Given the description of an element on the screen output the (x, y) to click on. 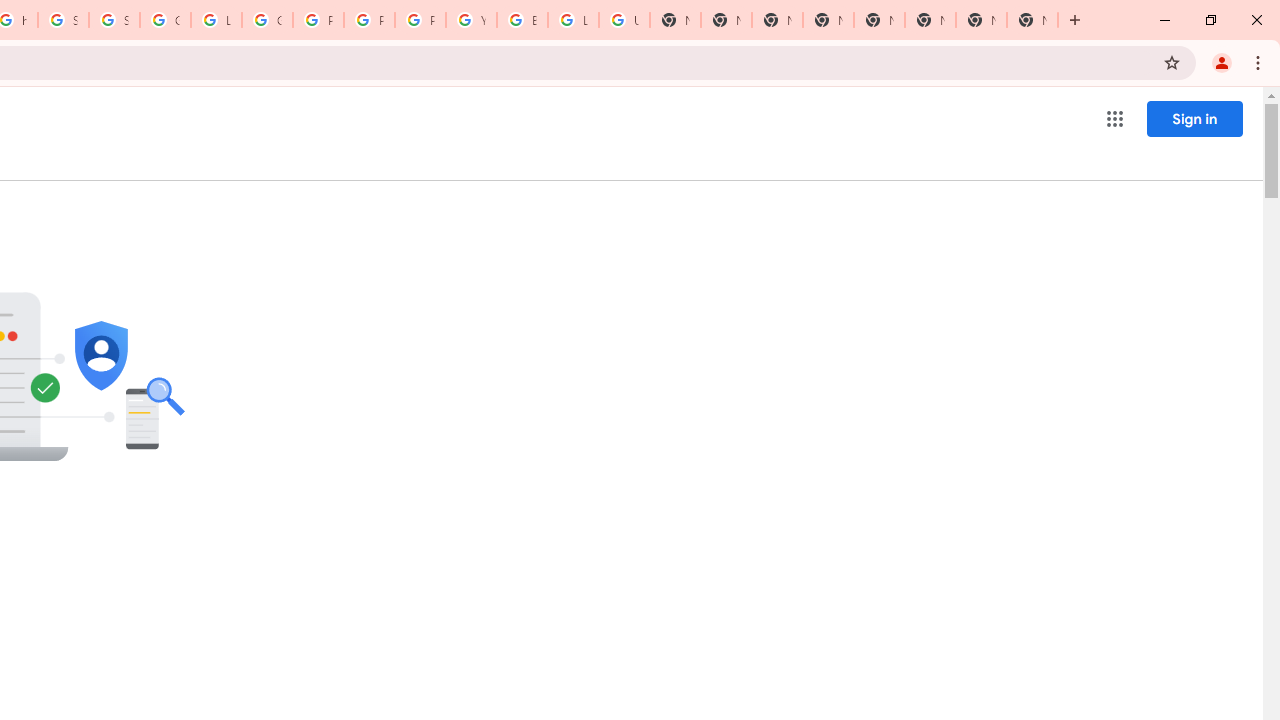
Privacy Help Center - Policies Help (369, 20)
YouTube (470, 20)
